Given the description of an element on the screen output the (x, y) to click on. 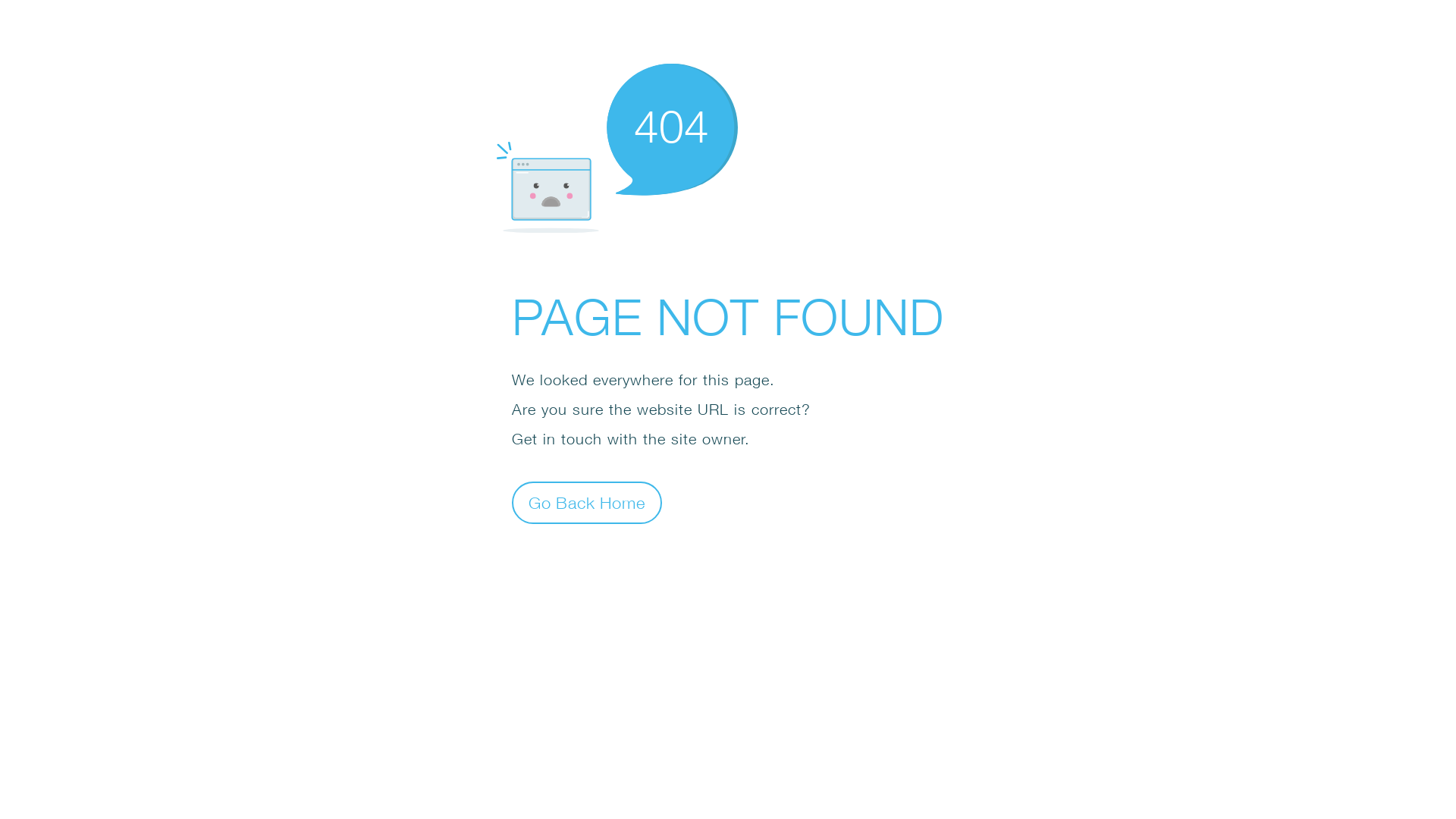
Go Back Home Element type: text (586, 502)
